Given the description of an element on the screen output the (x, y) to click on. 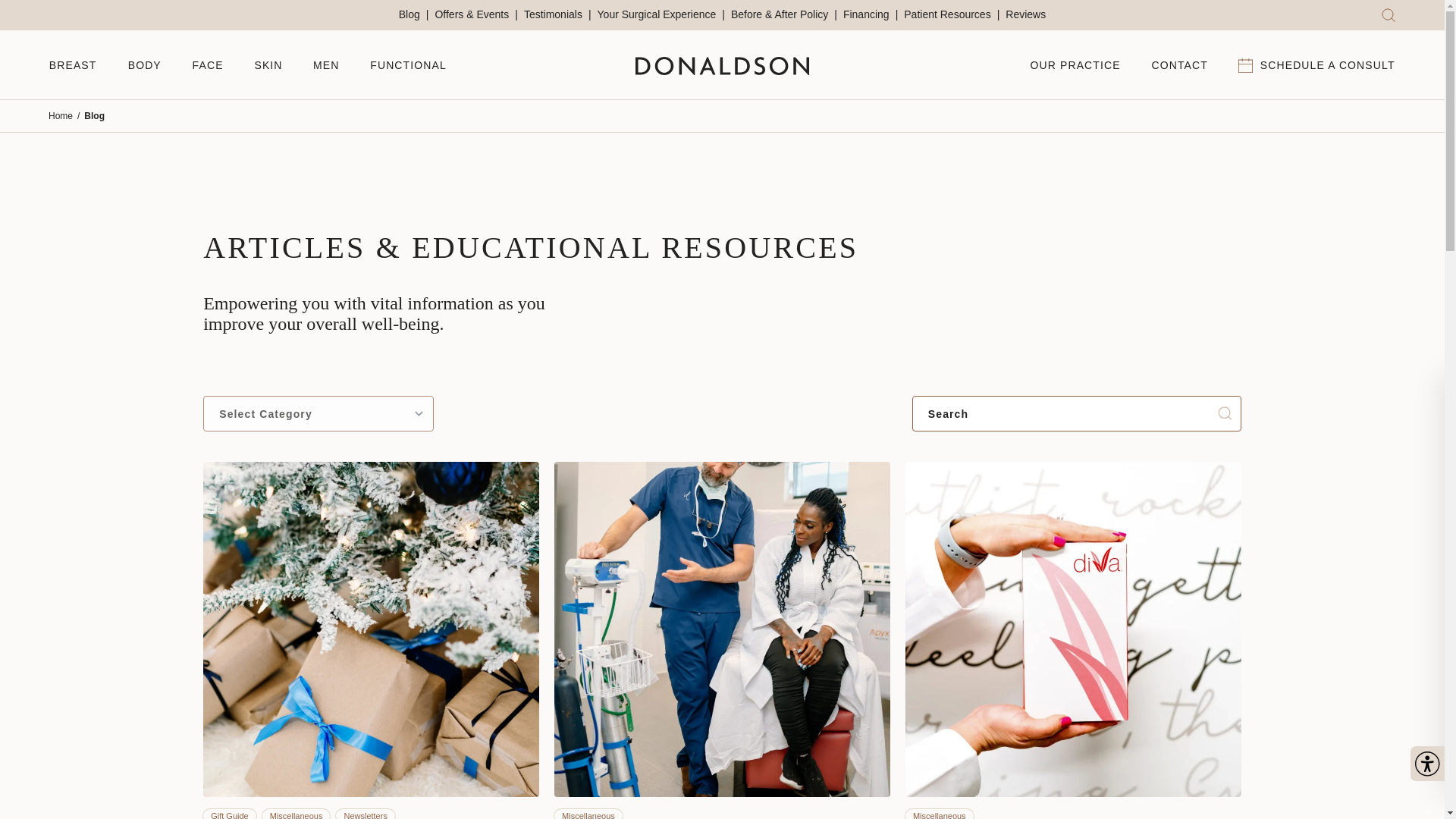
Blog (413, 14)
FUNCTIONAL (407, 64)
BREAST (73, 64)
Patient Resources (951, 14)
SCHEDULE A CONSULT (1317, 65)
FACE (208, 64)
Blog (413, 14)
Donaldson Plastic Surgery (721, 65)
OUR PRACTICE (1074, 64)
Financing (870, 14)
Financing (870, 14)
MEN (326, 64)
Reviews (1025, 14)
Patient Resources (951, 14)
Reviews (1025, 14)
